Given the description of an element on the screen output the (x, y) to click on. 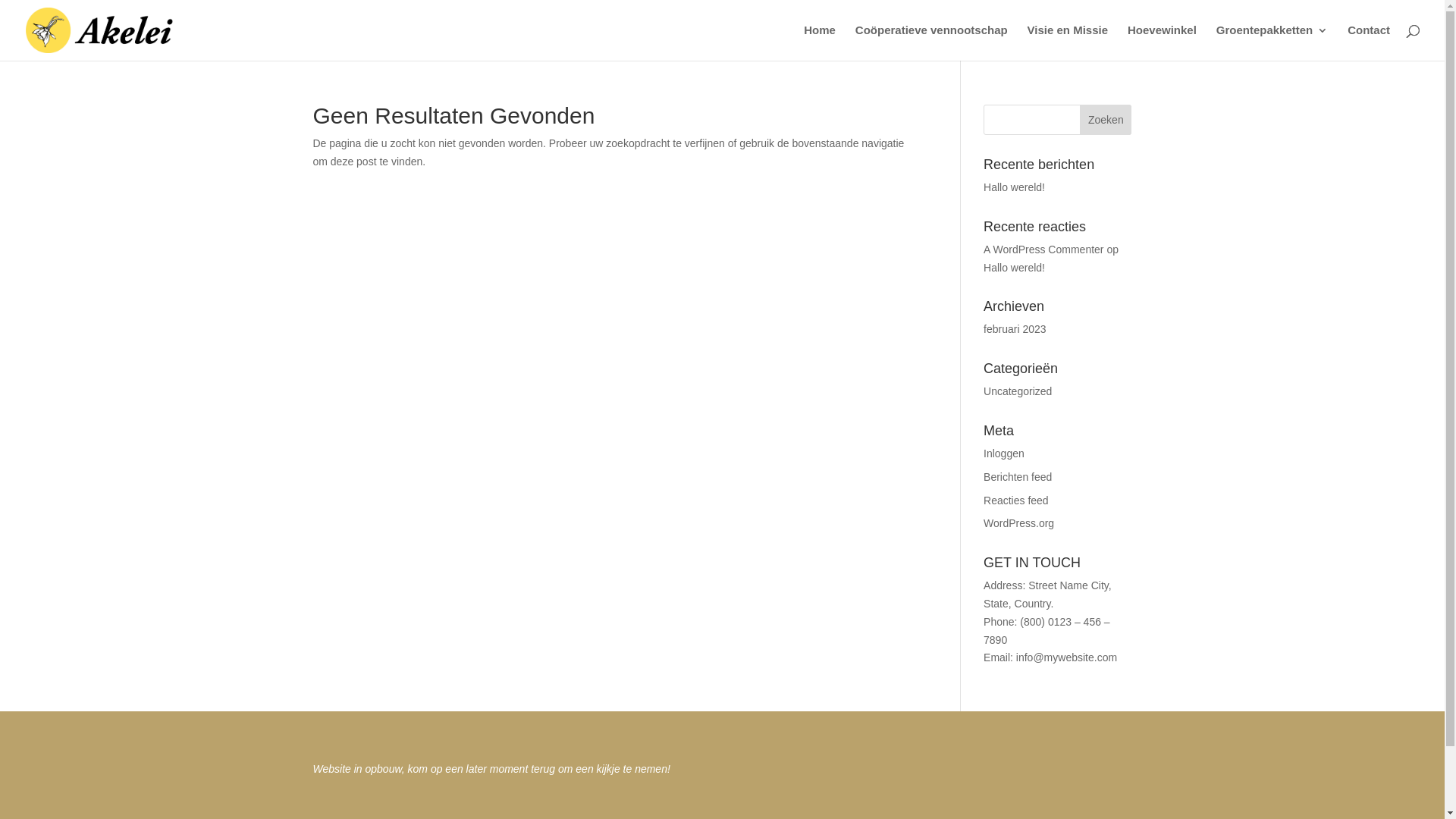
Hallo wereld! Element type: text (1013, 187)
Uncategorized Element type: text (1017, 391)
Groentepakketten Element type: text (1272, 42)
WordPress.org Element type: text (1018, 523)
Inloggen Element type: text (1003, 453)
Hoevewinkel Element type: text (1161, 42)
Berichten feed Element type: text (1017, 476)
Home Element type: text (819, 42)
Zoeken Element type: text (1105, 119)
Hallo wereld! Element type: text (1013, 267)
februari 2023 Element type: text (1014, 329)
Contact Element type: text (1368, 42)
Reacties feed Element type: text (1015, 500)
Visie en Missie Element type: text (1067, 42)
A WordPress Commenter Element type: text (1043, 249)
